Given the description of an element on the screen output the (x, y) to click on. 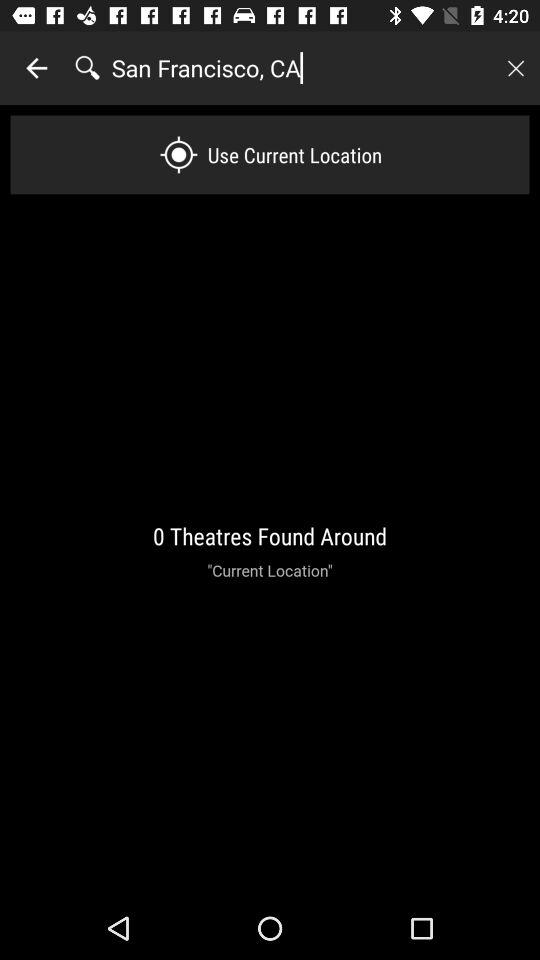
flip until san francisco, ca icon (301, 67)
